Given the description of an element on the screen output the (x, y) to click on. 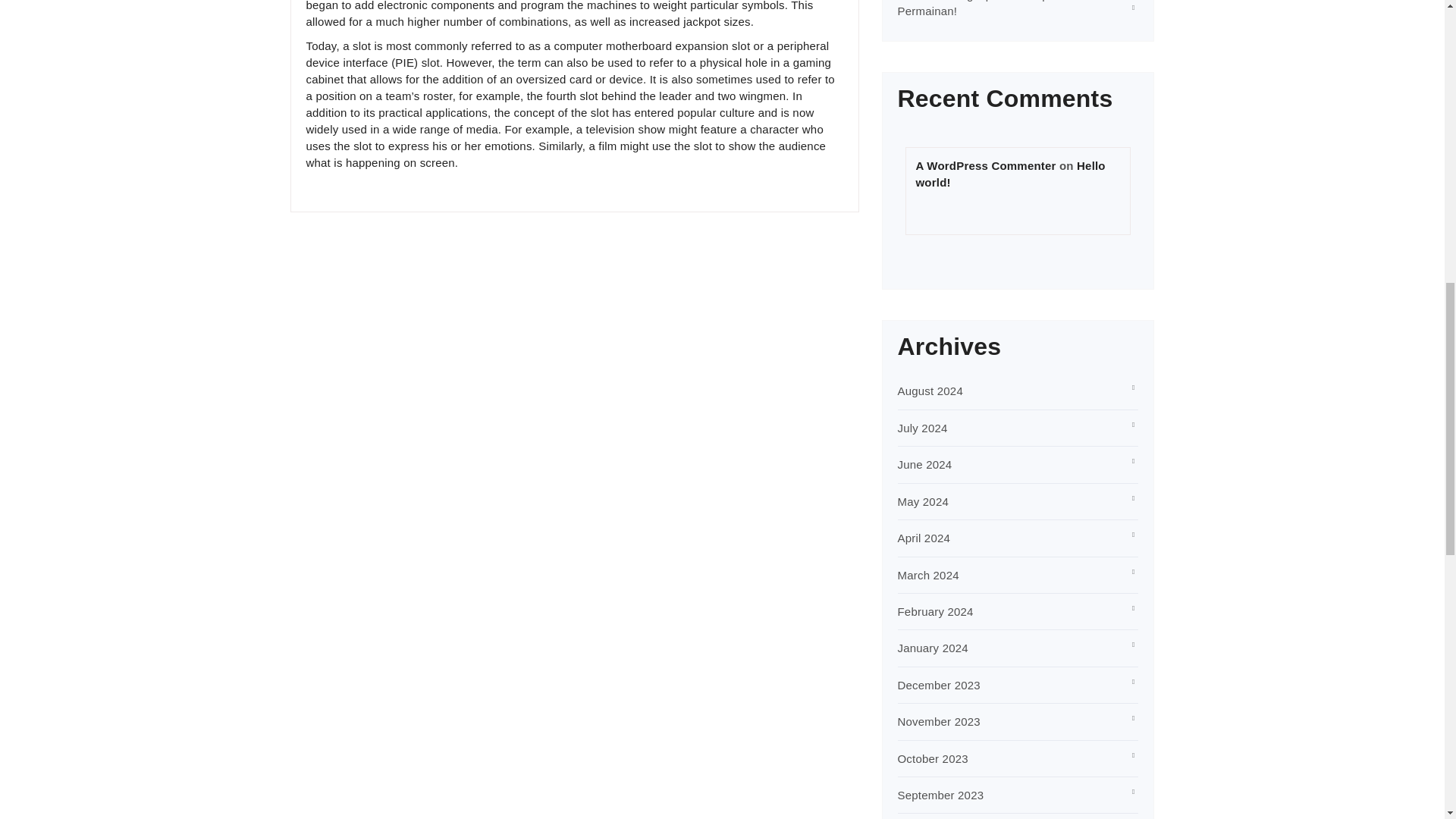
August 2024 (930, 390)
November 2023 (938, 721)
September 2023 (941, 794)
May 2024 (923, 501)
March 2024 (928, 574)
January 2024 (933, 647)
Hello world! (1010, 173)
October 2023 (933, 758)
A WordPress Commenter (986, 164)
February 2024 (936, 611)
April 2024 (924, 537)
June 2024 (925, 463)
December 2023 (938, 684)
July 2024 (922, 427)
